Given the description of an element on the screen output the (x, y) to click on. 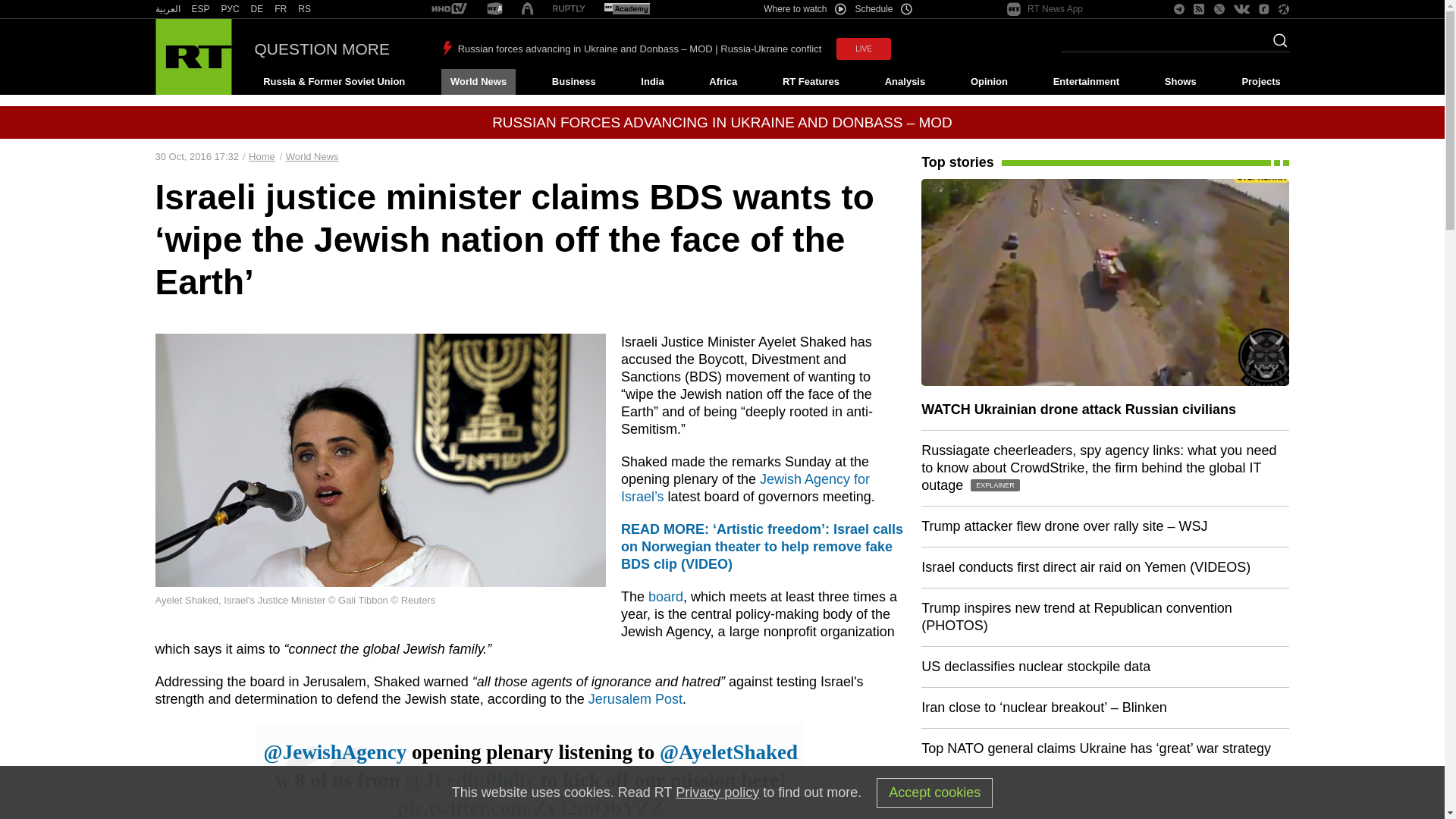
Opinion (988, 81)
RT  (230, 9)
Search (1276, 44)
Where to watch (803, 9)
World News (478, 81)
RT  (448, 9)
RT News App (1045, 9)
India (651, 81)
RS (304, 9)
LIVE (863, 48)
Schedule (884, 9)
RT  (569, 8)
Africa (722, 81)
Business (573, 81)
Analysis (905, 81)
